Given the description of an element on the screen output the (x, y) to click on. 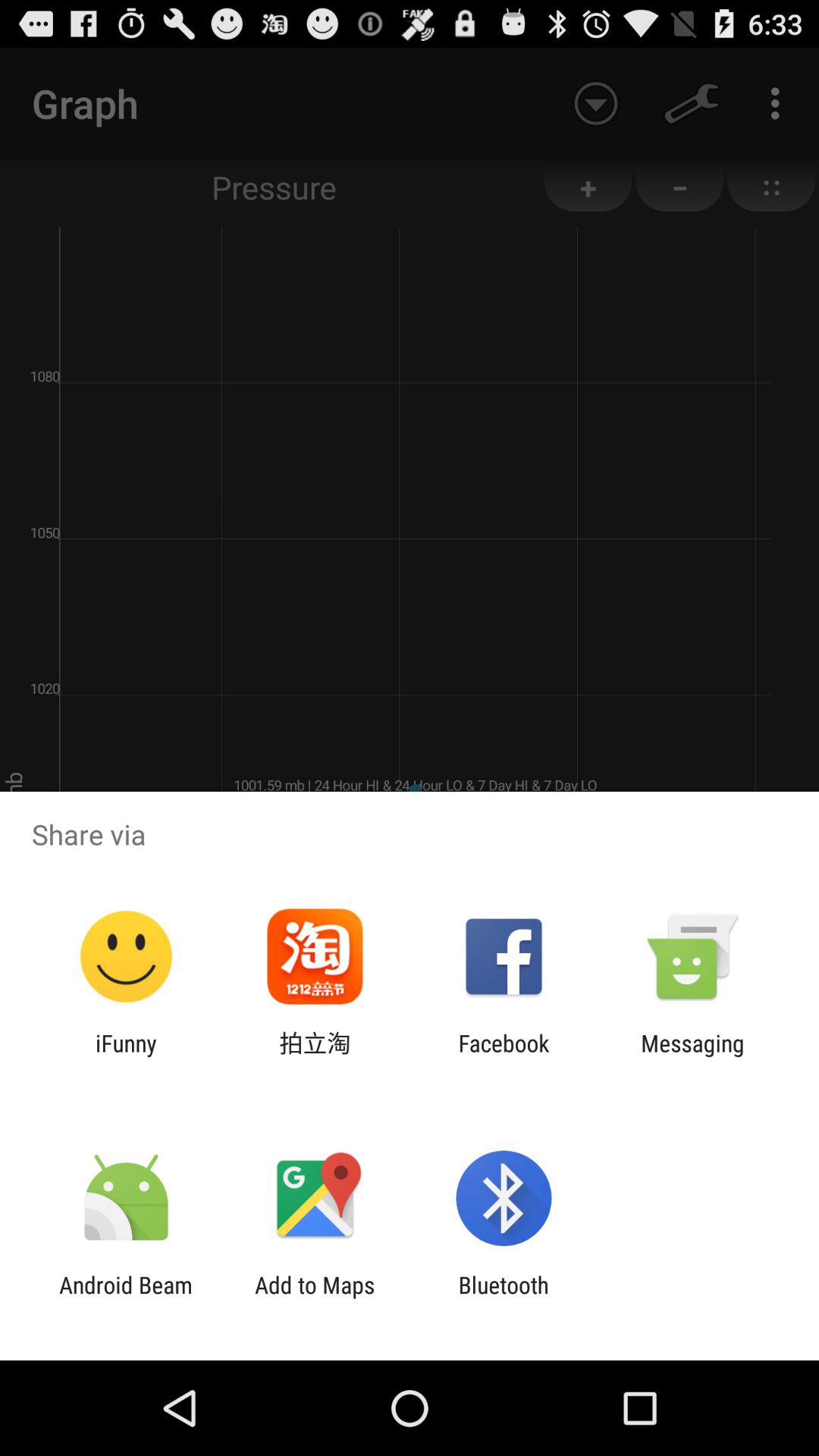
choose the item next to ifunny (314, 1056)
